Given the description of an element on the screen output the (x, y) to click on. 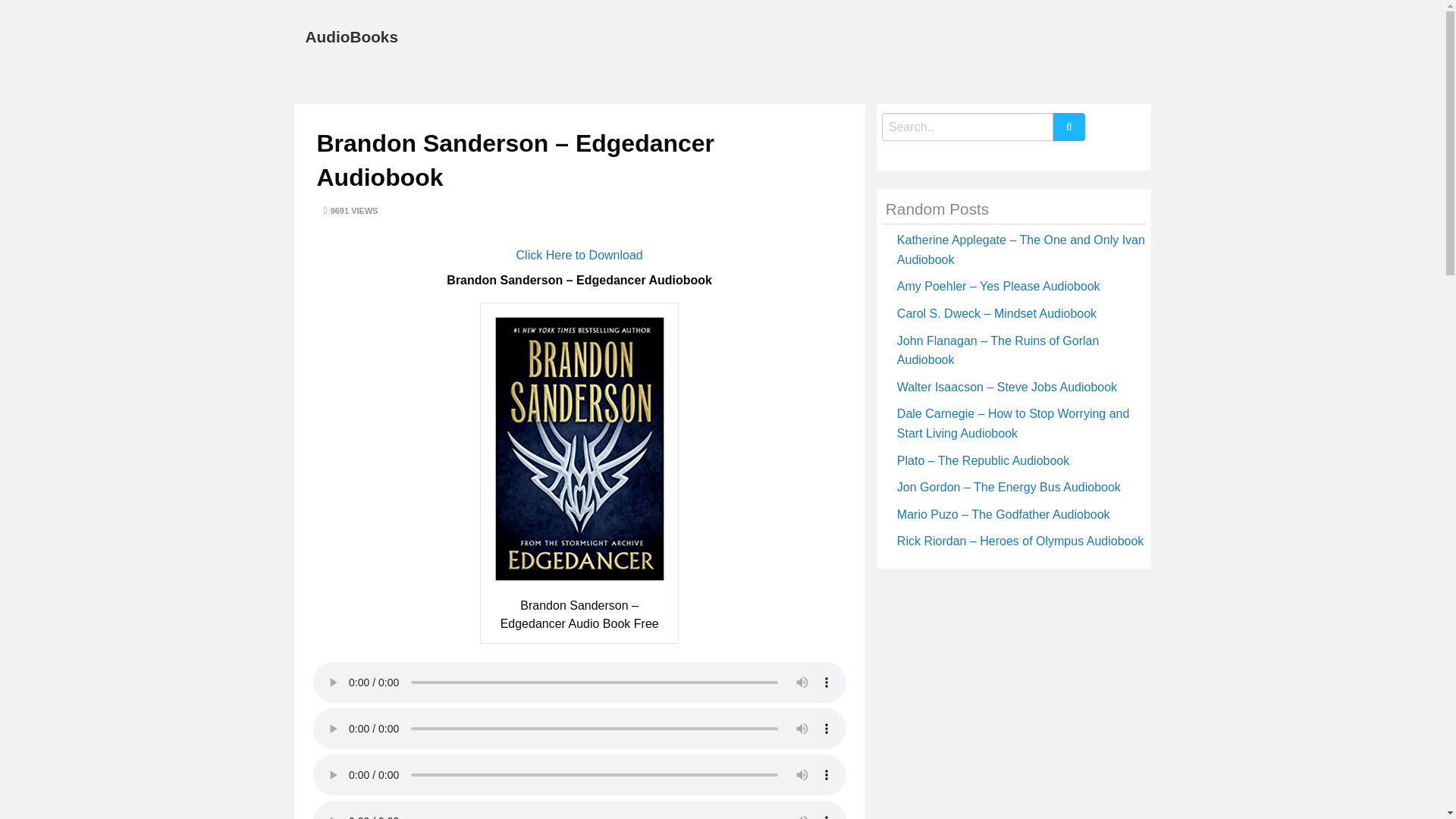
Click Here to Download (579, 254)
AudioBooks (350, 36)
